Given the description of an element on the screen output the (x, y) to click on. 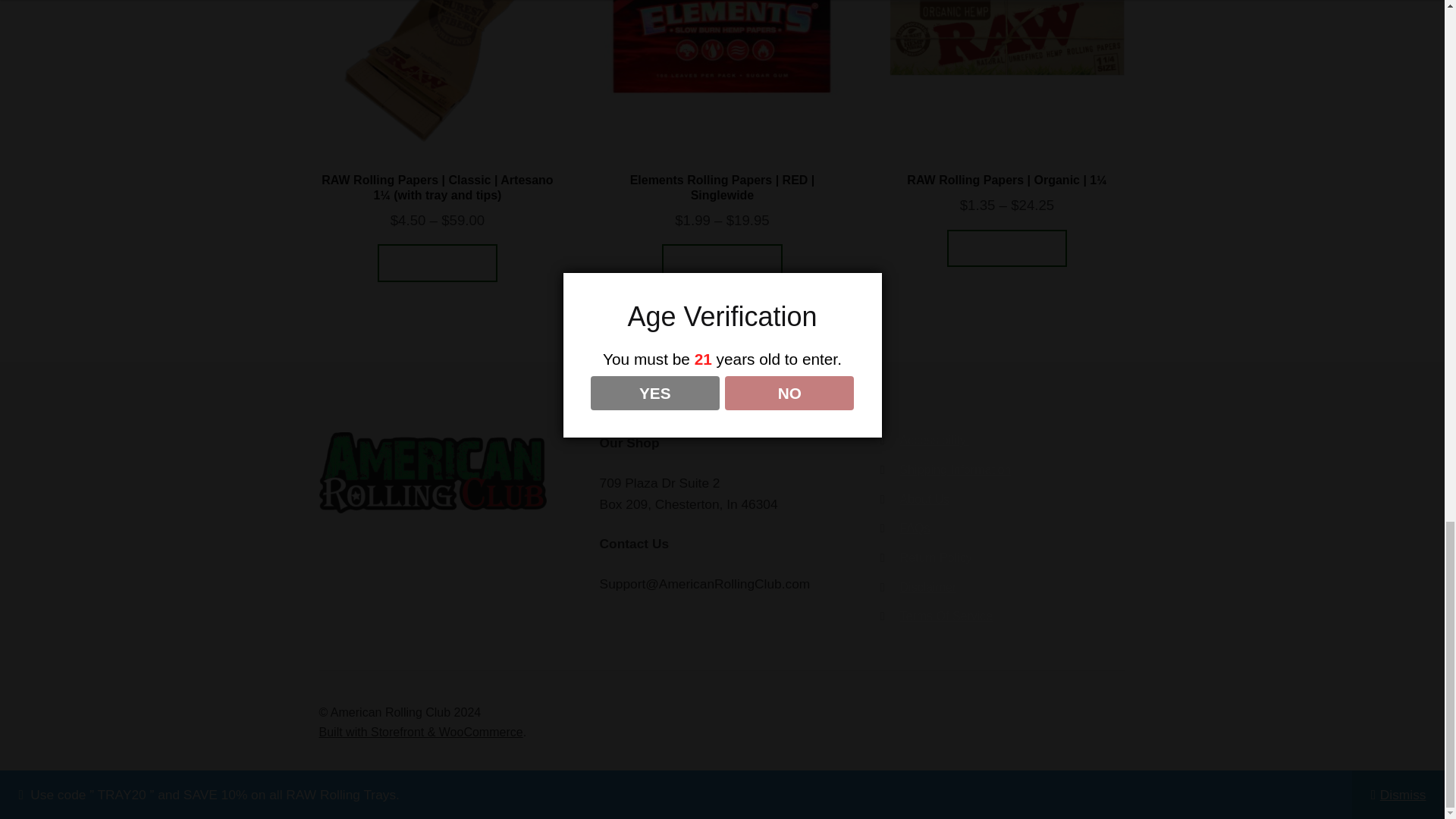
WooCommerce - The Best eCommerce Platform for WordPress (420, 731)
